Given the description of an element on the screen output the (x, y) to click on. 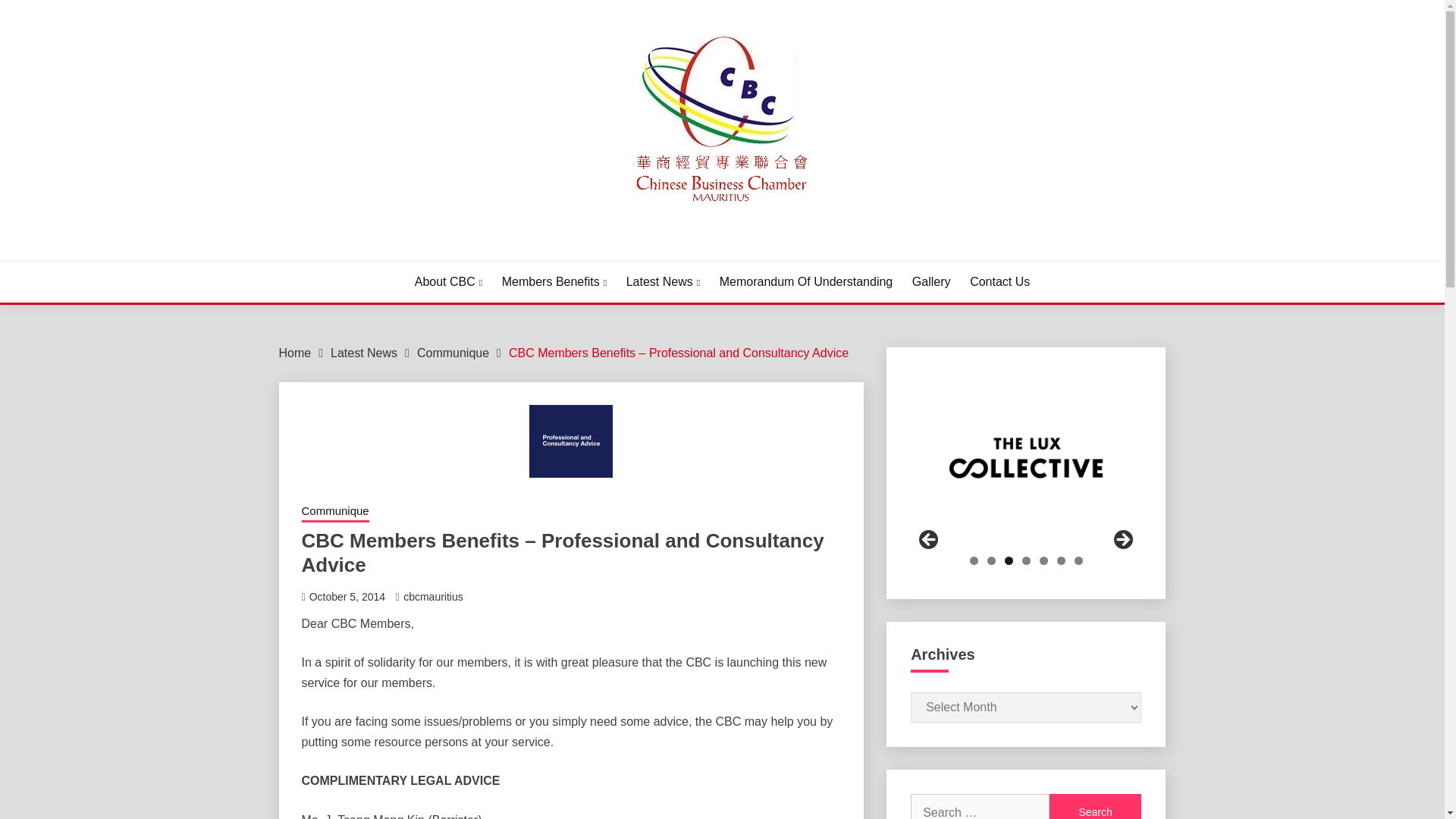
Lux Collective (1026, 457)
Home (295, 352)
Communique (452, 352)
October 5, 2014 (346, 595)
Communique (335, 512)
Contact Us (999, 281)
Latest News (363, 352)
CBC MAURITIUS (390, 240)
Search (1095, 806)
Memorandum Of Understanding (806, 281)
Search (1095, 806)
Gallery (931, 281)
Latest News (663, 281)
Members Benefits (554, 281)
About CBC (447, 281)
